Given the description of an element on the screen output the (x, y) to click on. 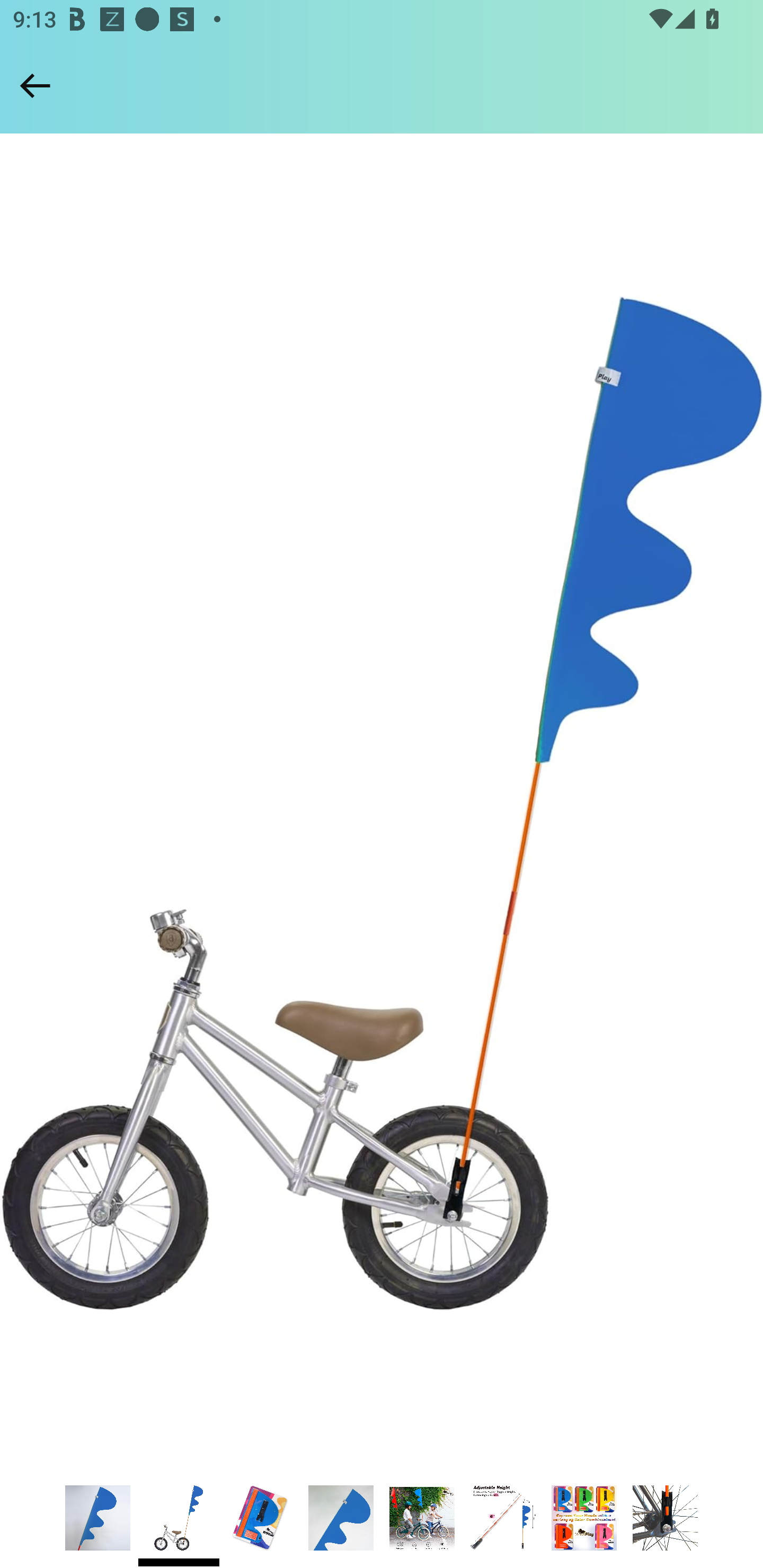
Back (35, 85)
Thumbnail 1 (97, 1517)
Thumbnail 2 (178, 1517)
Thumbnail 3 (259, 1517)
Thumbnail 4 (340, 1517)
Thumbnail 5 (421, 1517)
Thumbnail 6 (502, 1517)
Thumbnail 7 (583, 1517)
Thumbnail 8 (664, 1517)
